Given the description of an element on the screen output the (x, y) to click on. 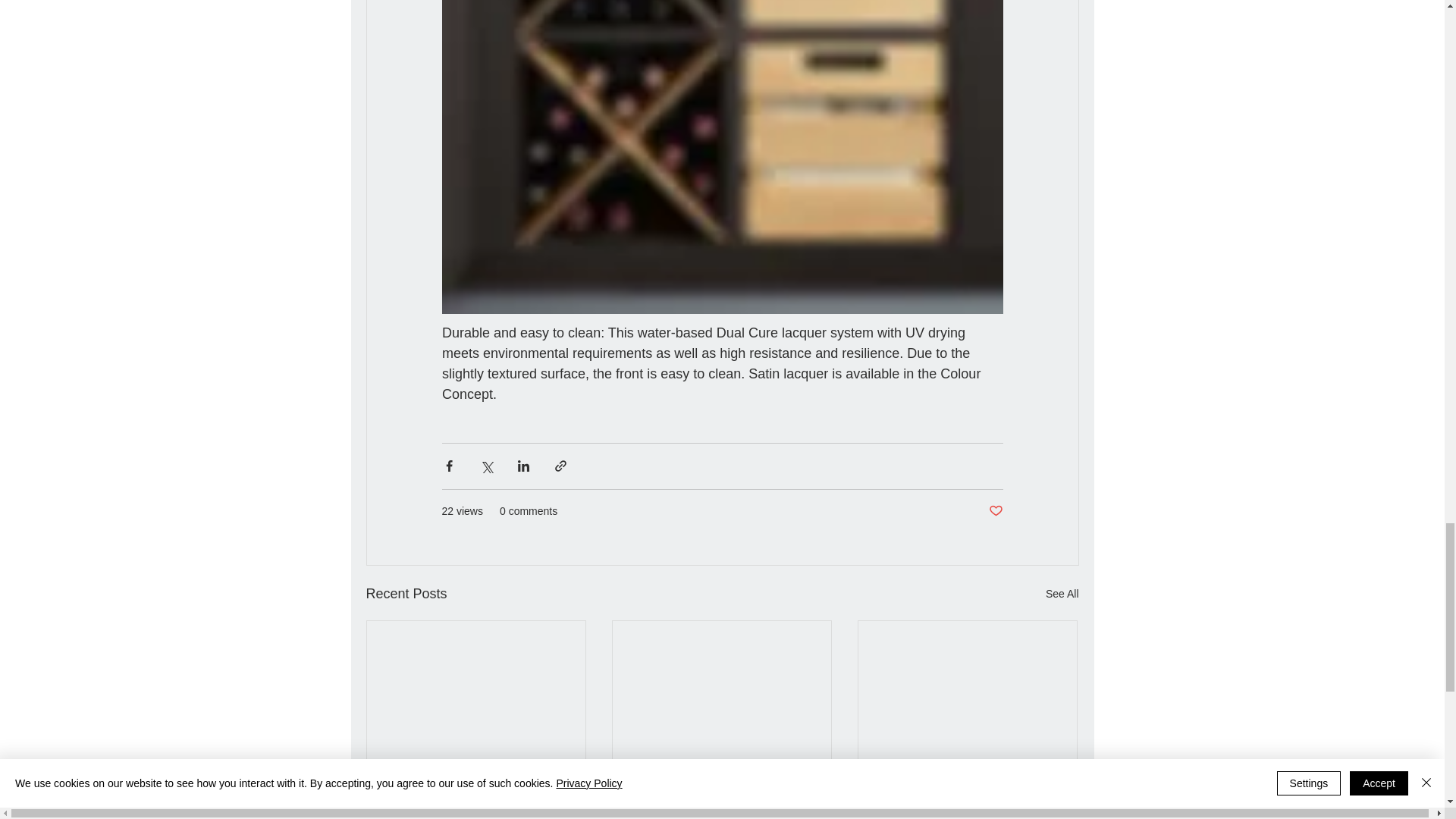
See All (1061, 593)
5 Sustainable Trends for a New Kitchen Design (476, 777)
Discover Aqualla to Elevate Your Bathroom Experience (721, 777)
The Pros and Cons of a Wetroom Bathroom (967, 777)
Post not marked as liked (995, 511)
